Given the description of an element on the screen output the (x, y) to click on. 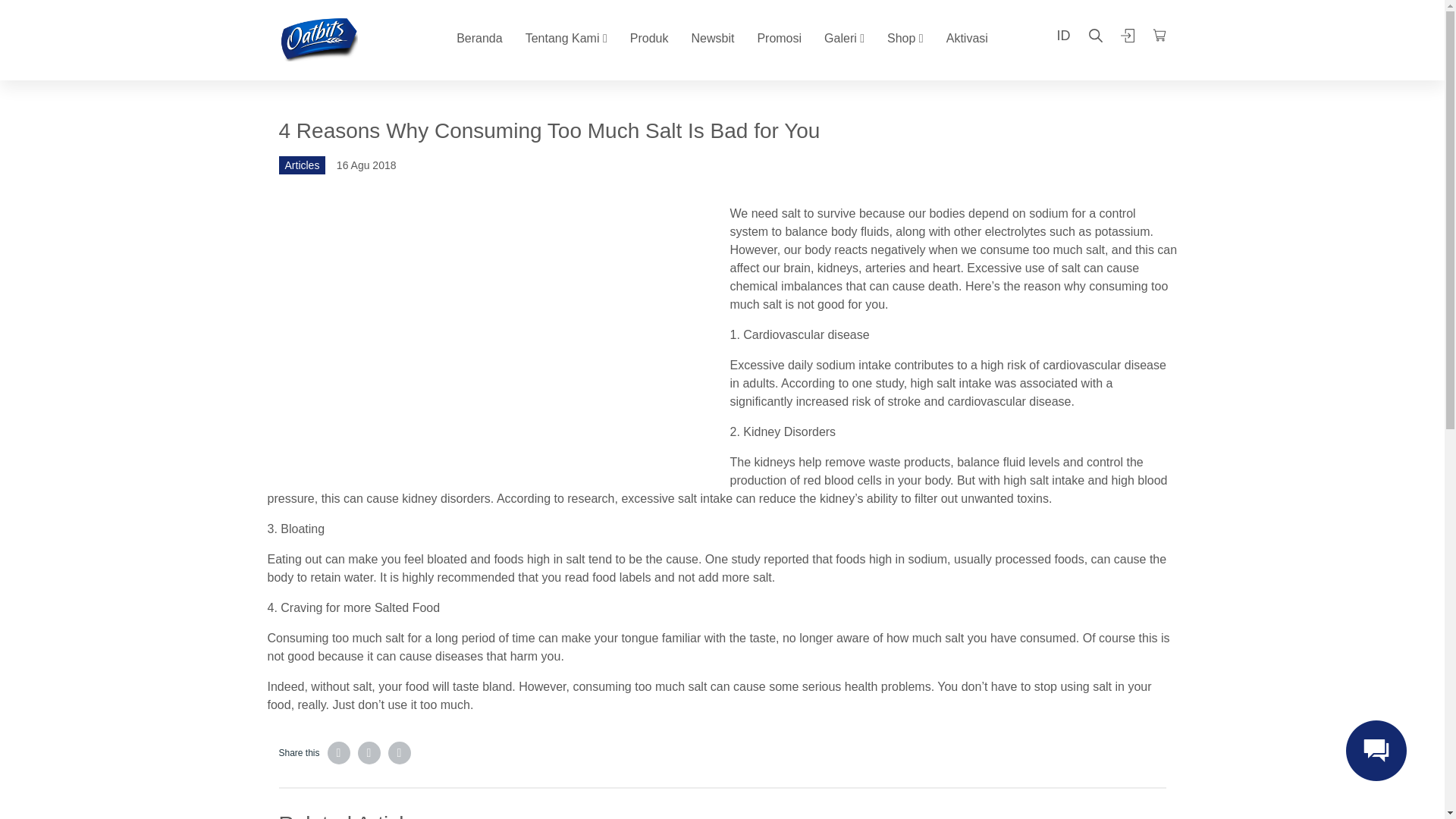
Produk (649, 38)
Tentang Kami (566, 38)
Aktivasi (967, 38)
ID (1054, 37)
Promosi (779, 38)
Articles (307, 164)
Beranda (479, 38)
Galeri (844, 38)
Newsbit (711, 38)
Shop (904, 38)
